Given the description of an element on the screen output the (x, y) to click on. 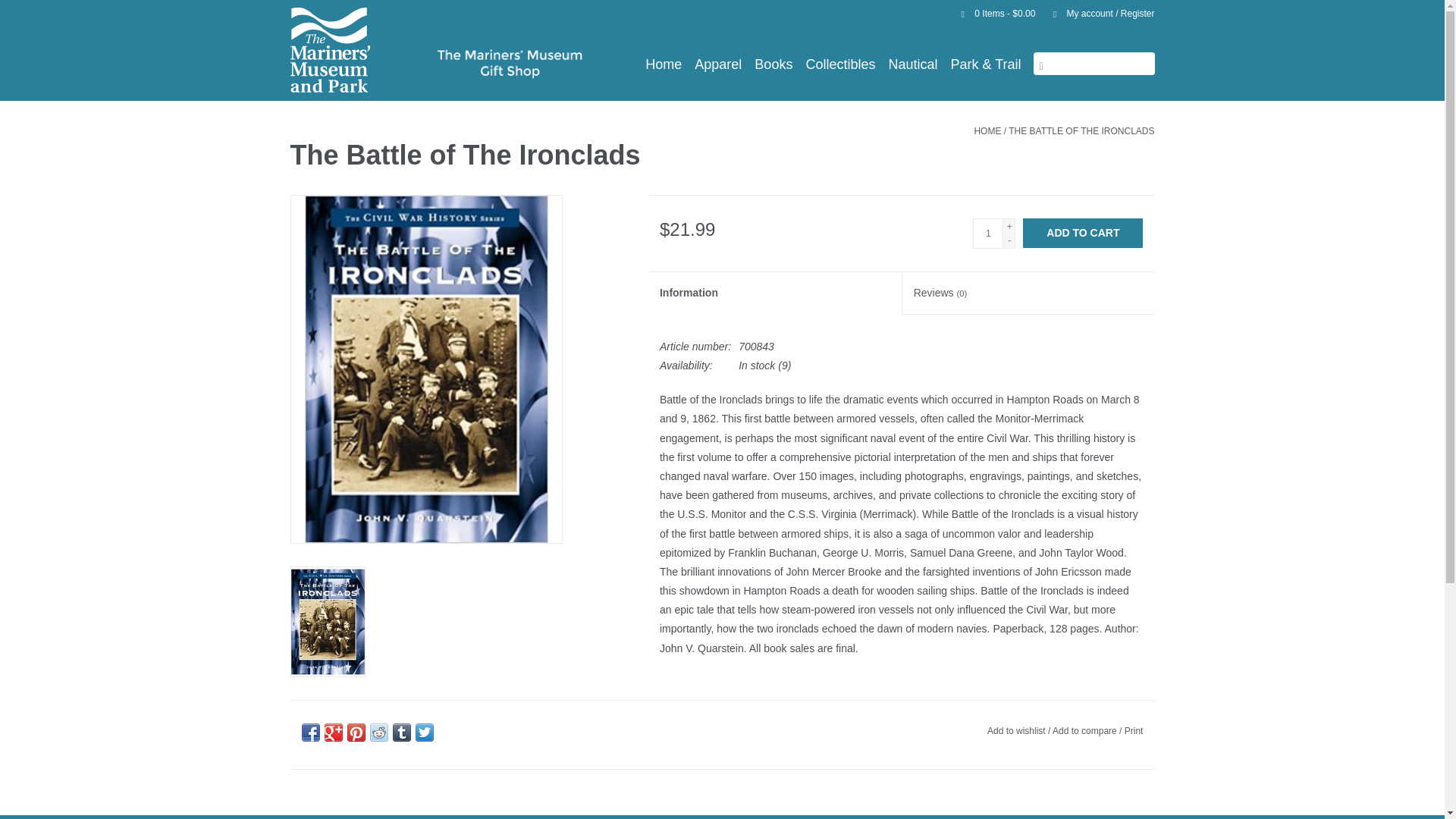
1 (987, 233)
Collectibles (839, 63)
Apparel (717, 63)
Nautical (912, 63)
Books (772, 63)
Apparel (717, 63)
HOME (987, 131)
Information (774, 292)
Books (772, 63)
ADD TO CART (1082, 233)
The Museum's Gift Shop is now ONLINE! (385, 63)
Cart (992, 13)
Nautical (912, 63)
- (1008, 239)
Home (662, 63)
